Given the description of an element on the screen output the (x, y) to click on. 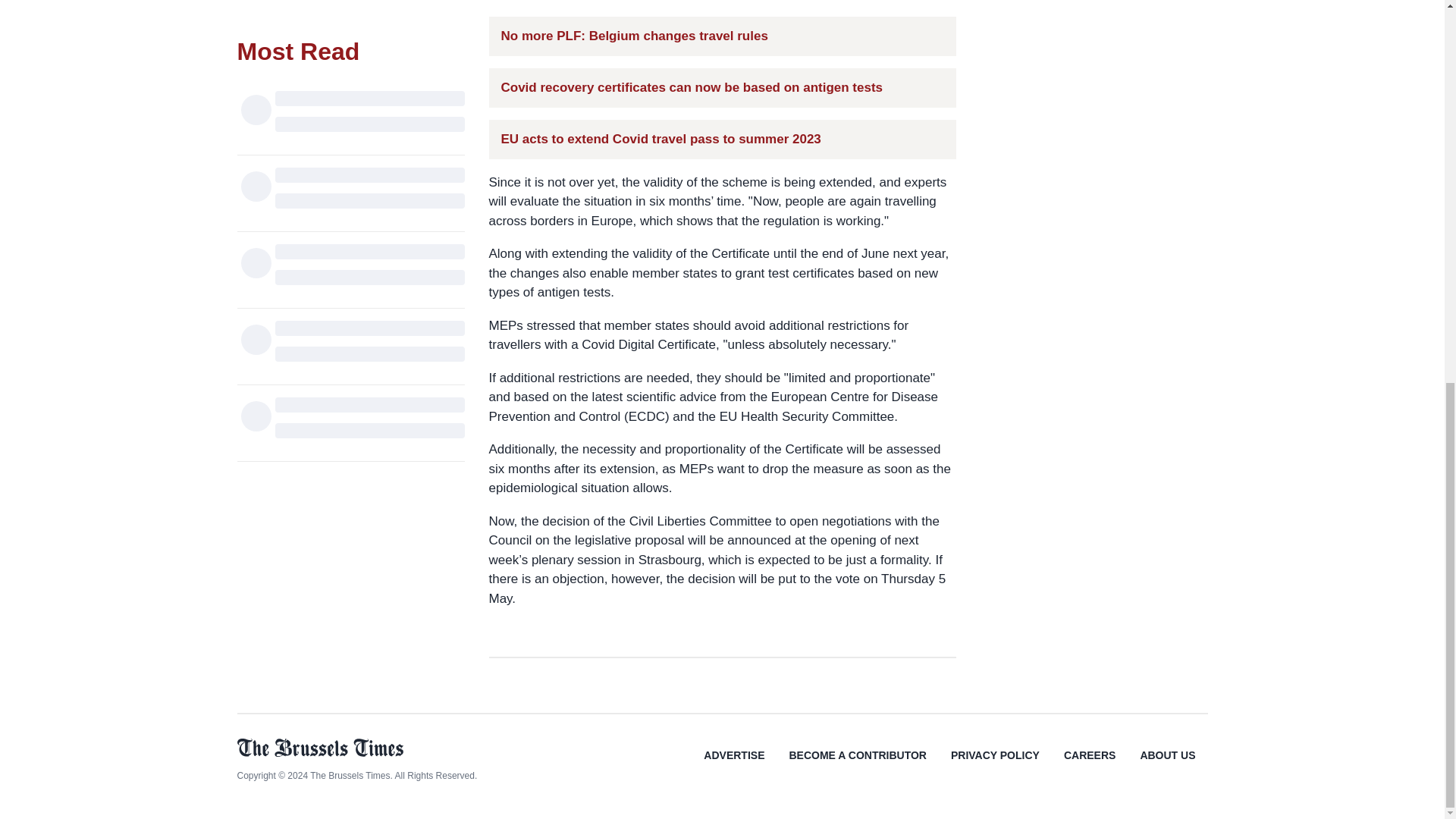
ABOUT US (1166, 766)
PRIVACY POLICY (995, 766)
EU acts to extend Covid travel pass to summer 2023 (660, 138)
BECOME A CONTRIBUTOR (856, 766)
ADVERTISE (733, 766)
CAREERS (1088, 766)
No more PLF: Belgium changes travel rules (633, 35)
